Given the description of an element on the screen output the (x, y) to click on. 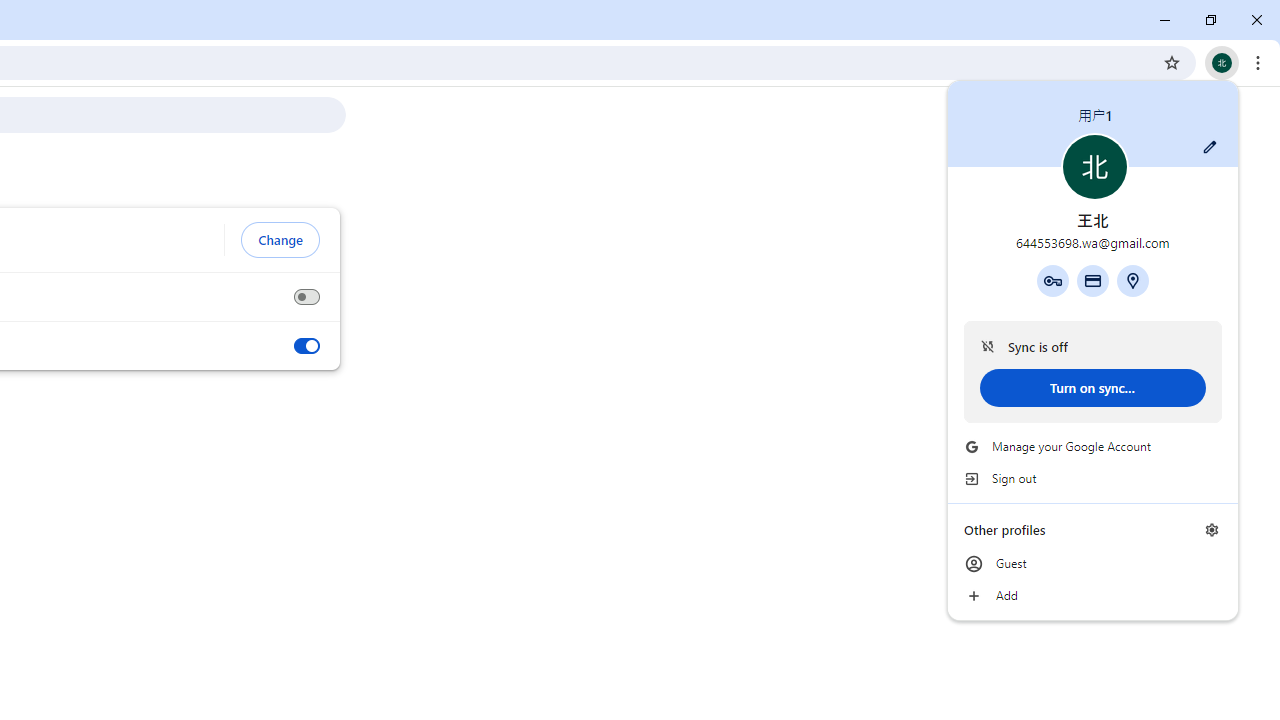
Manage profiles (1211, 529)
Add (1092, 596)
Bookmark this tab (1171, 62)
Addresses and more (1133, 280)
Change (280, 240)
Ask where to save each file before downloading (306, 297)
Guest (1092, 563)
Sign out (1092, 478)
Restore (1210, 20)
Manage your Google Account (1092, 446)
Payment methods (1092, 280)
Google Password Manager (1052, 280)
Show downloads when they're done (306, 345)
